Given the description of an element on the screen output the (x, y) to click on. 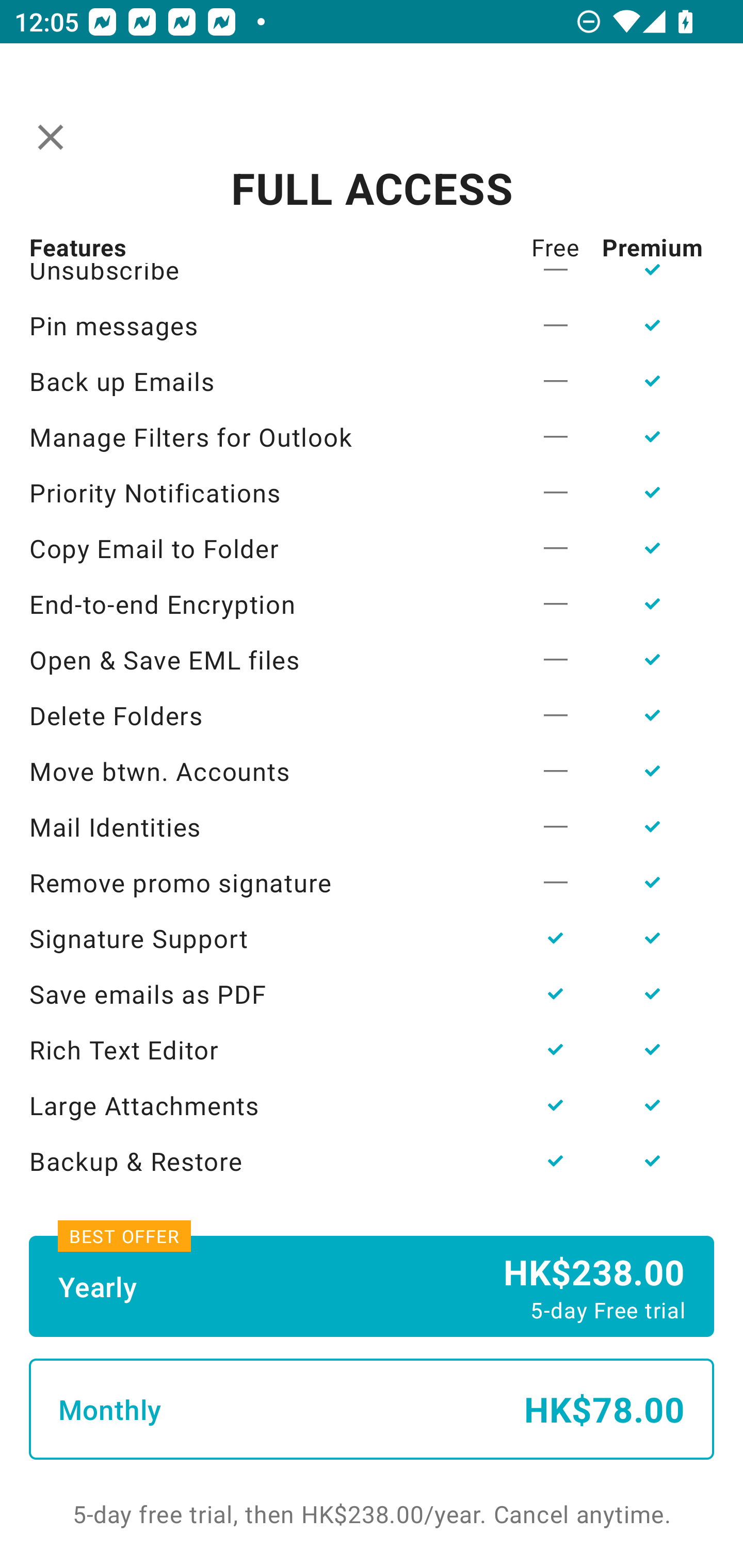
Yearly HK$238.00 5-day Free trial (371, 1286)
Monthly HK$78.00 (371, 1408)
